Given the description of an element on the screen output the (x, y) to click on. 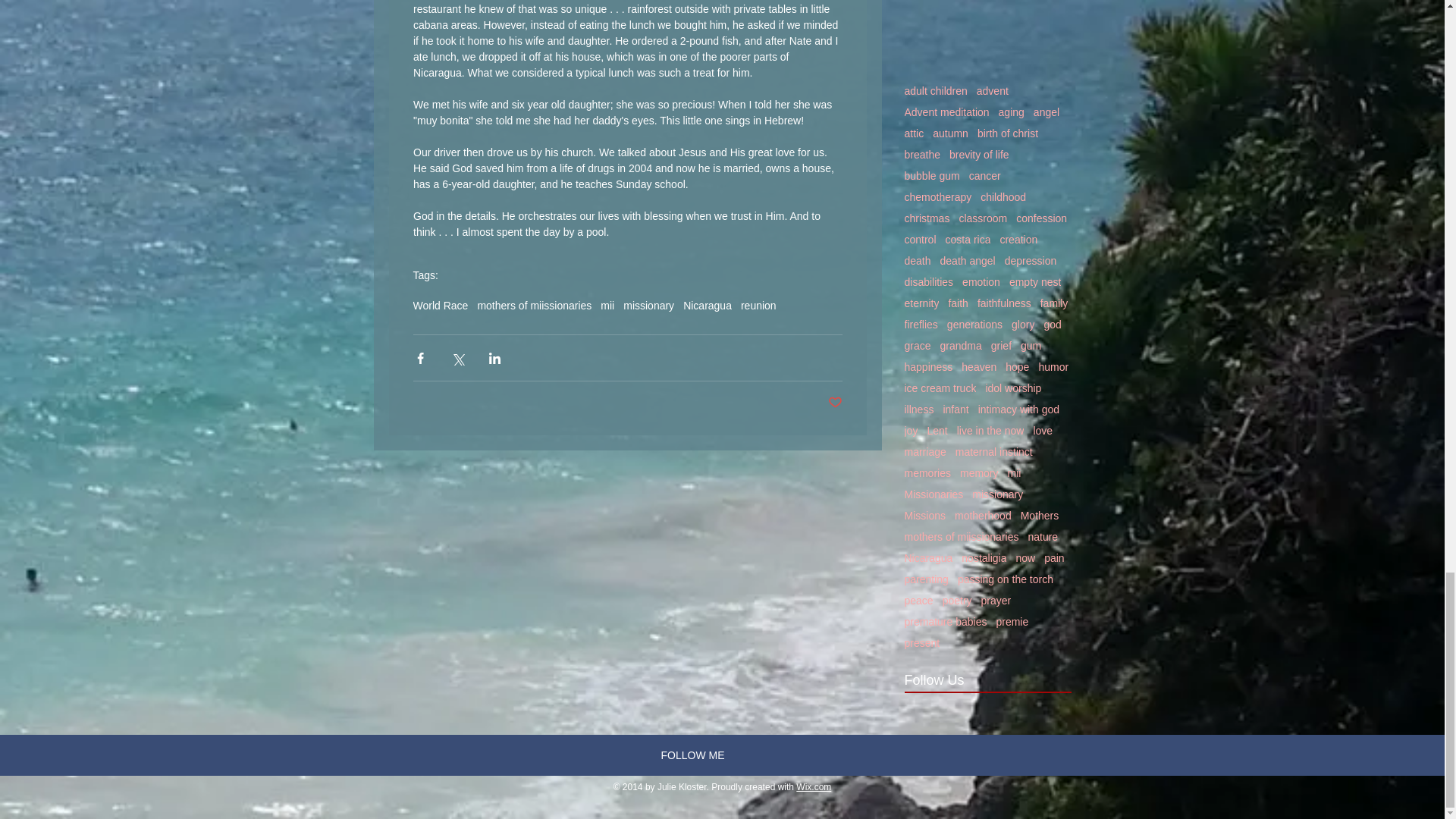
Post not marked as liked (835, 402)
Nicaragua (707, 305)
mothers of miissionaries (534, 305)
bubble gum (931, 175)
adult children (935, 91)
reunion (758, 305)
mii (606, 305)
World Race (439, 305)
birth of christ (1007, 133)
advent (992, 91)
Advent meditation (946, 111)
angel (1046, 111)
aging (1011, 111)
brevity of life (979, 154)
breathe (921, 154)
